Given the description of an element on the screen output the (x, y) to click on. 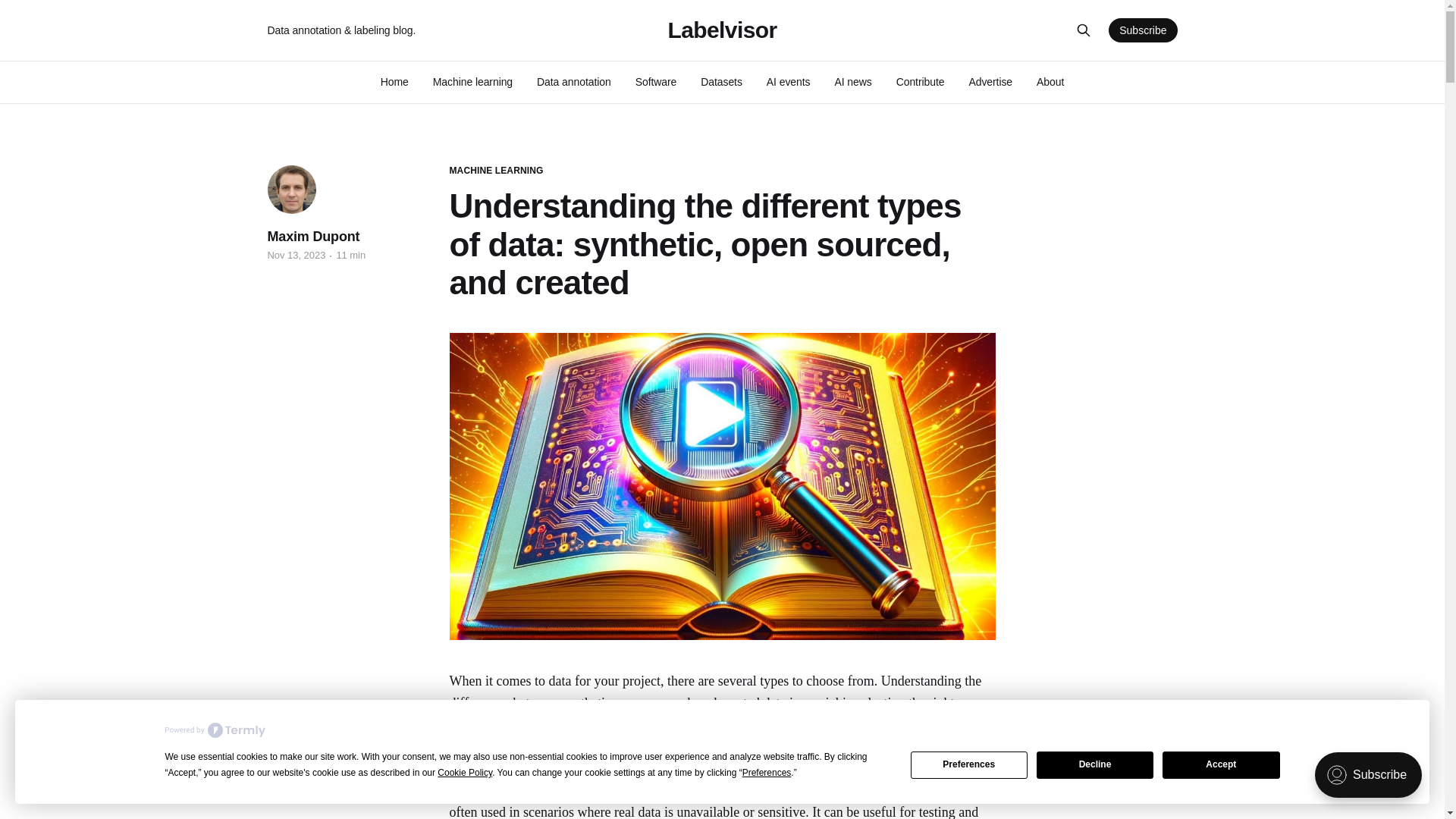
Maxim Dupont (312, 236)
Data annotation (574, 81)
About (1050, 81)
MACHINE LEARNING (495, 170)
Labelvisor (721, 29)
Decline (1094, 764)
Preferences (969, 764)
Home (394, 81)
Software (655, 81)
Datasets (721, 81)
Machine learning (472, 81)
AI events (788, 81)
AI news (852, 81)
Advertise (989, 81)
Subscribe (1142, 30)
